Given the description of an element on the screen output the (x, y) to click on. 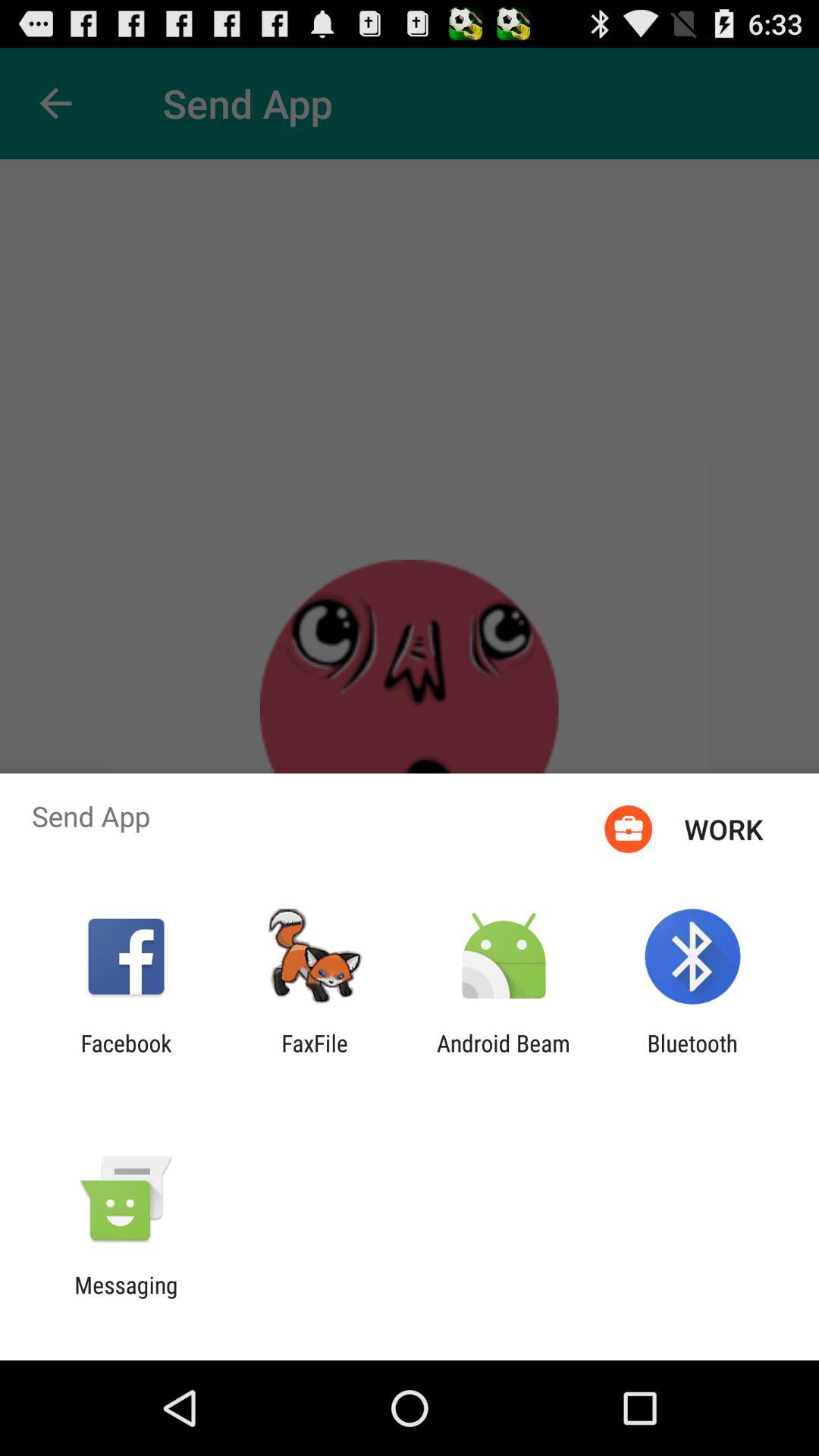
click the messaging icon (126, 1298)
